Given the description of an element on the screen output the (x, y) to click on. 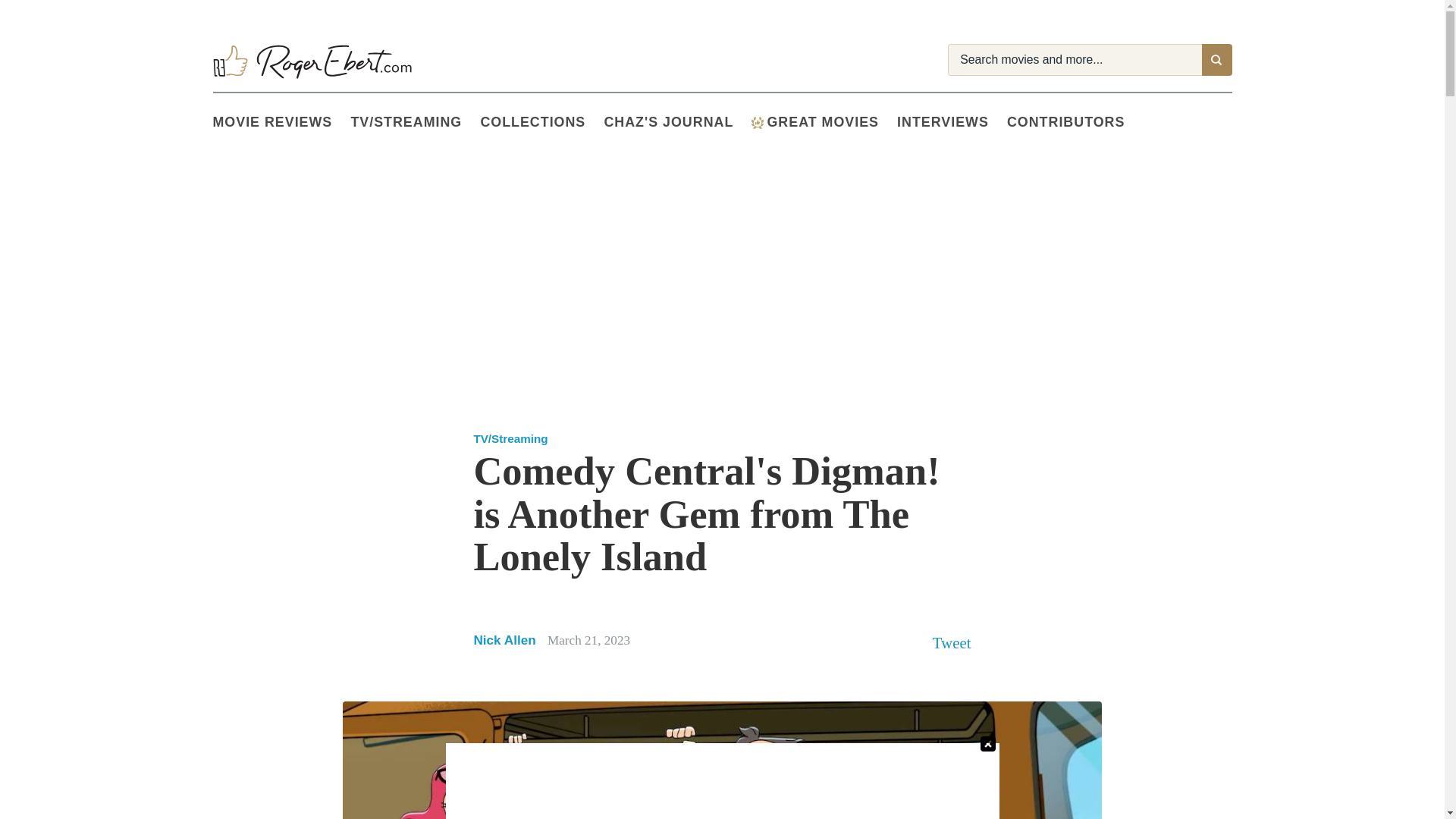
Search (1216, 60)
Contributors (1074, 122)
CHAZ'S JOURNAL (677, 122)
GREAT MOVIES (823, 122)
Great Movies (756, 122)
Collections (542, 122)
INTERVIEWS (951, 122)
Movie Reviews (281, 122)
CONTRIBUTORS (1074, 122)
COLLECTIONS (542, 122)
Nick Allen (504, 639)
Tweet (952, 642)
Interviews (951, 122)
Great Movies (823, 122)
